Given the description of an element on the screen output the (x, y) to click on. 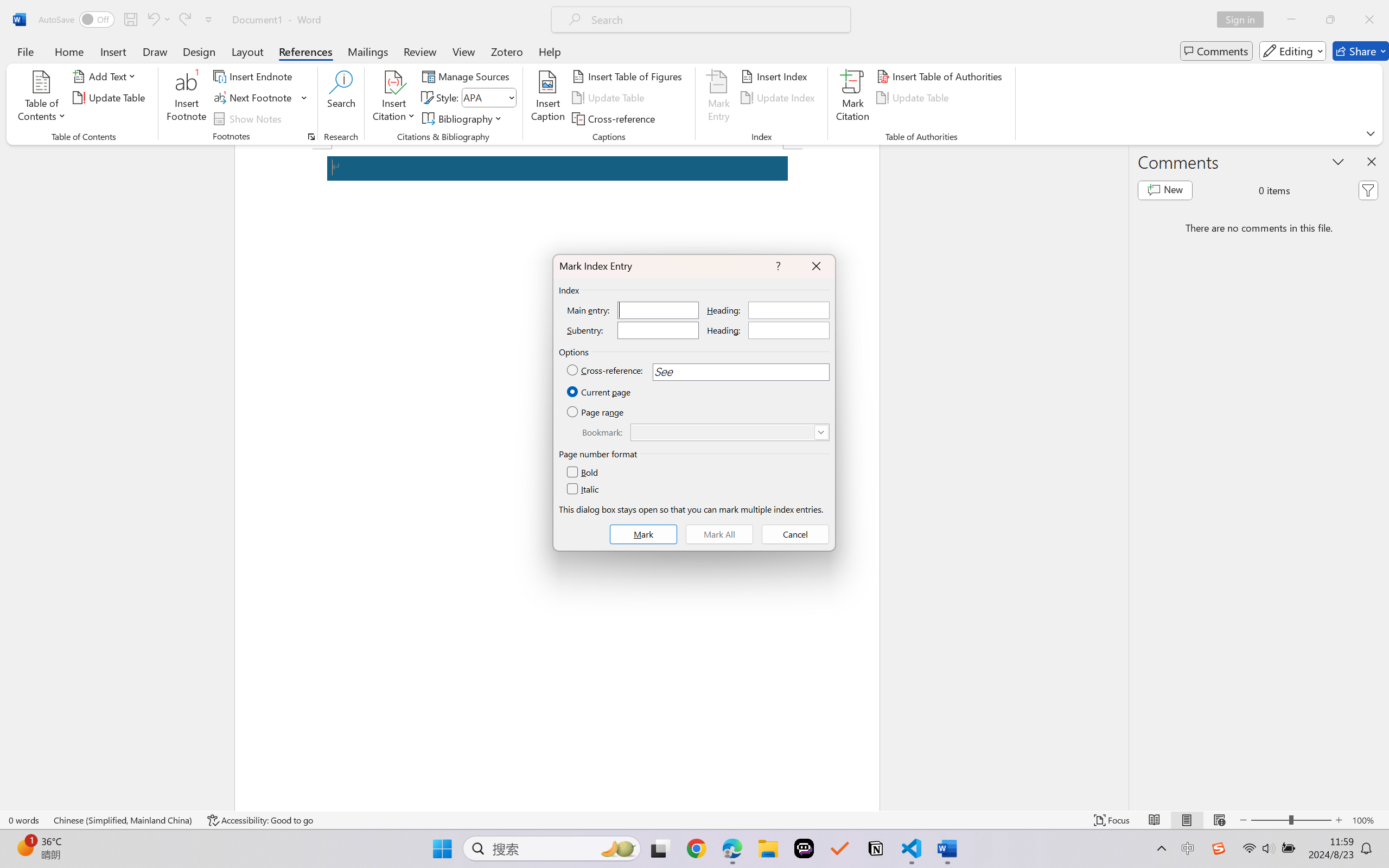
Mark Citation... (852, 97)
Next Footnote (260, 97)
Insert Caption... (547, 97)
Filter (1367, 190)
